Given the description of an element on the screen output the (x, y) to click on. 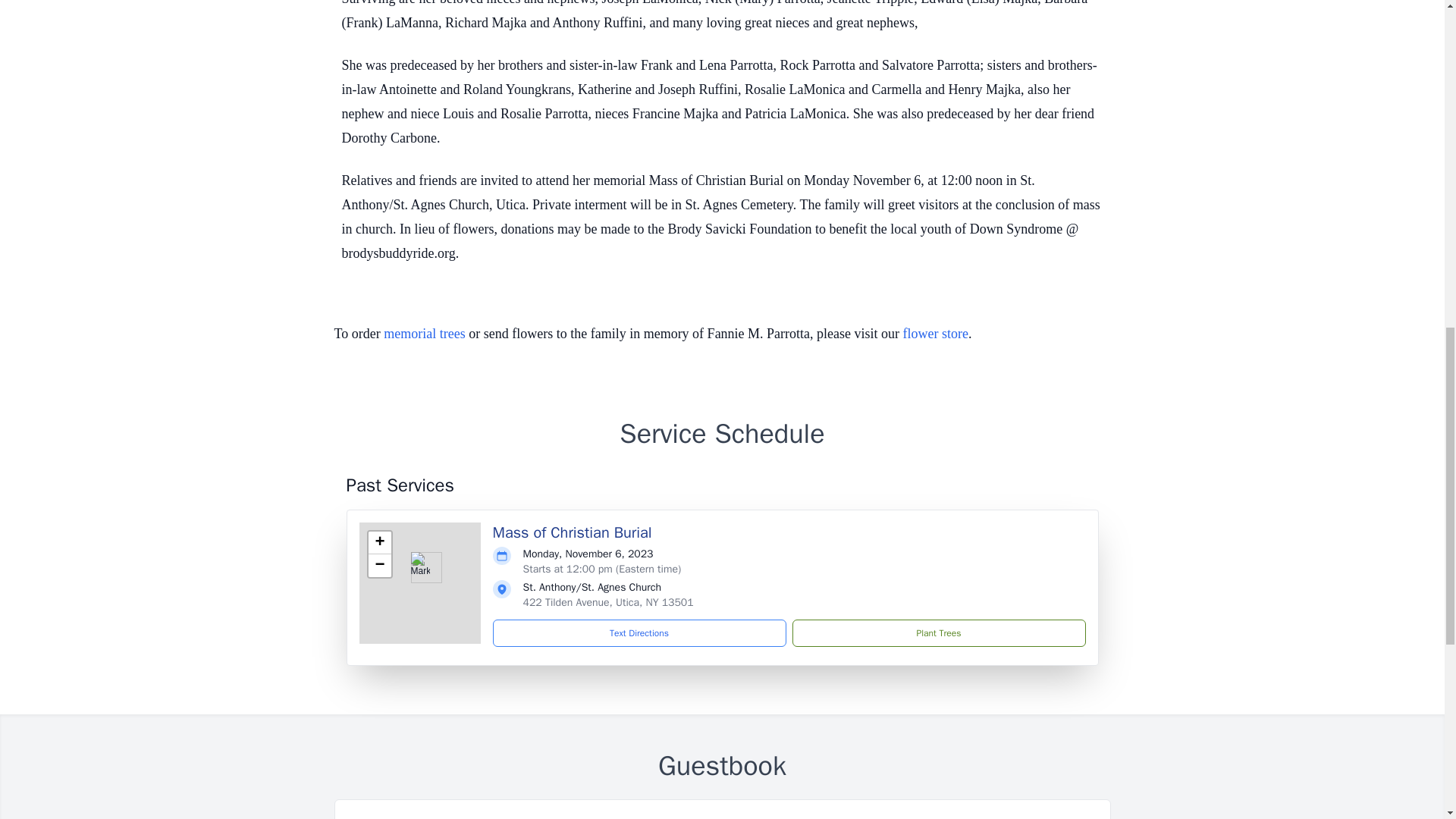
Zoom out (379, 565)
Plant Trees (938, 633)
flower store (935, 333)
Zoom in (379, 542)
422 Tilden Avenue, Utica, NY 13501 (608, 602)
memorial trees (424, 333)
Text Directions (639, 633)
